Given the description of an element on the screen output the (x, y) to click on. 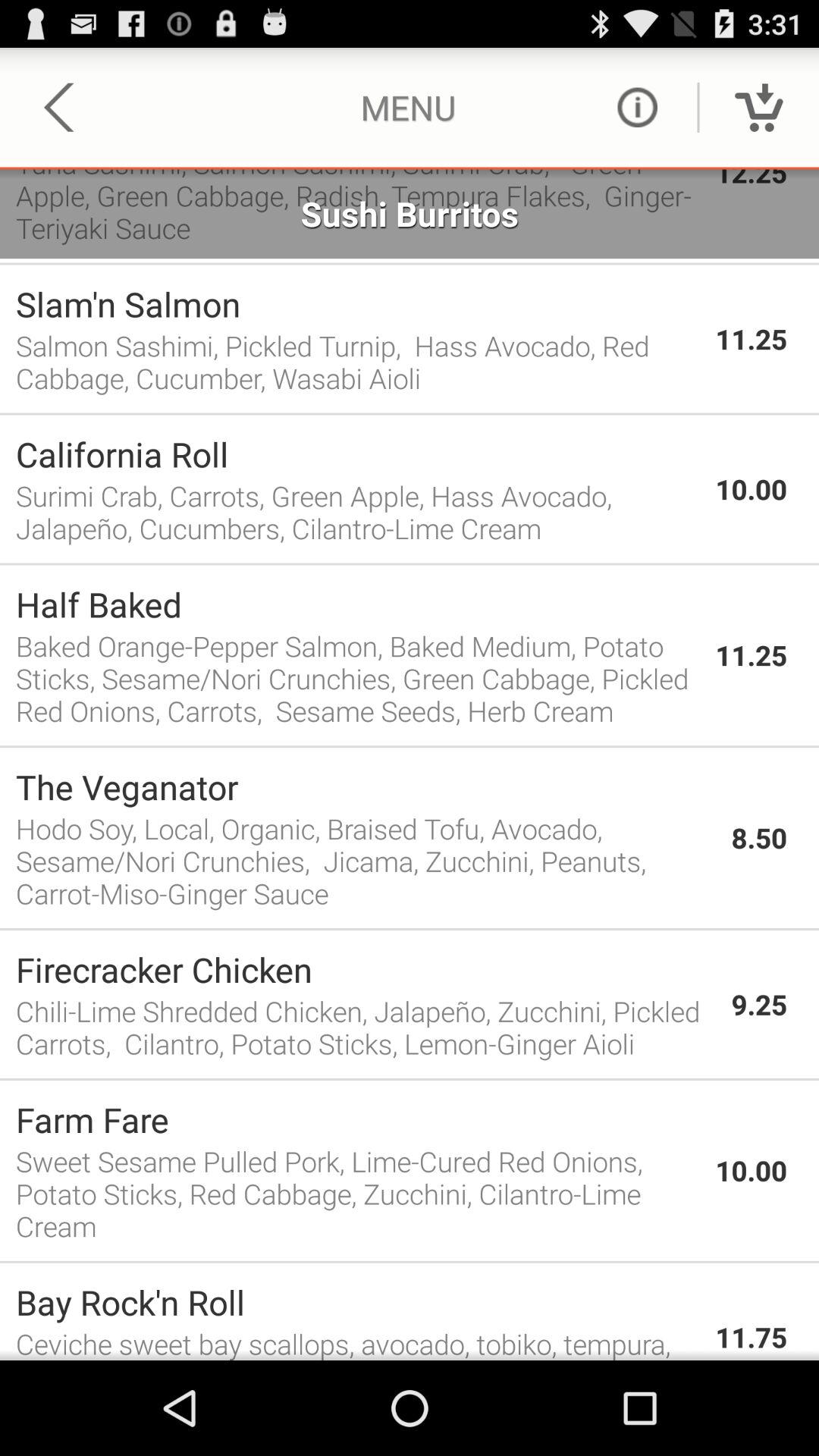
press icon below the firecracker chicken (365, 1027)
